Given the description of an element on the screen output the (x, y) to click on. 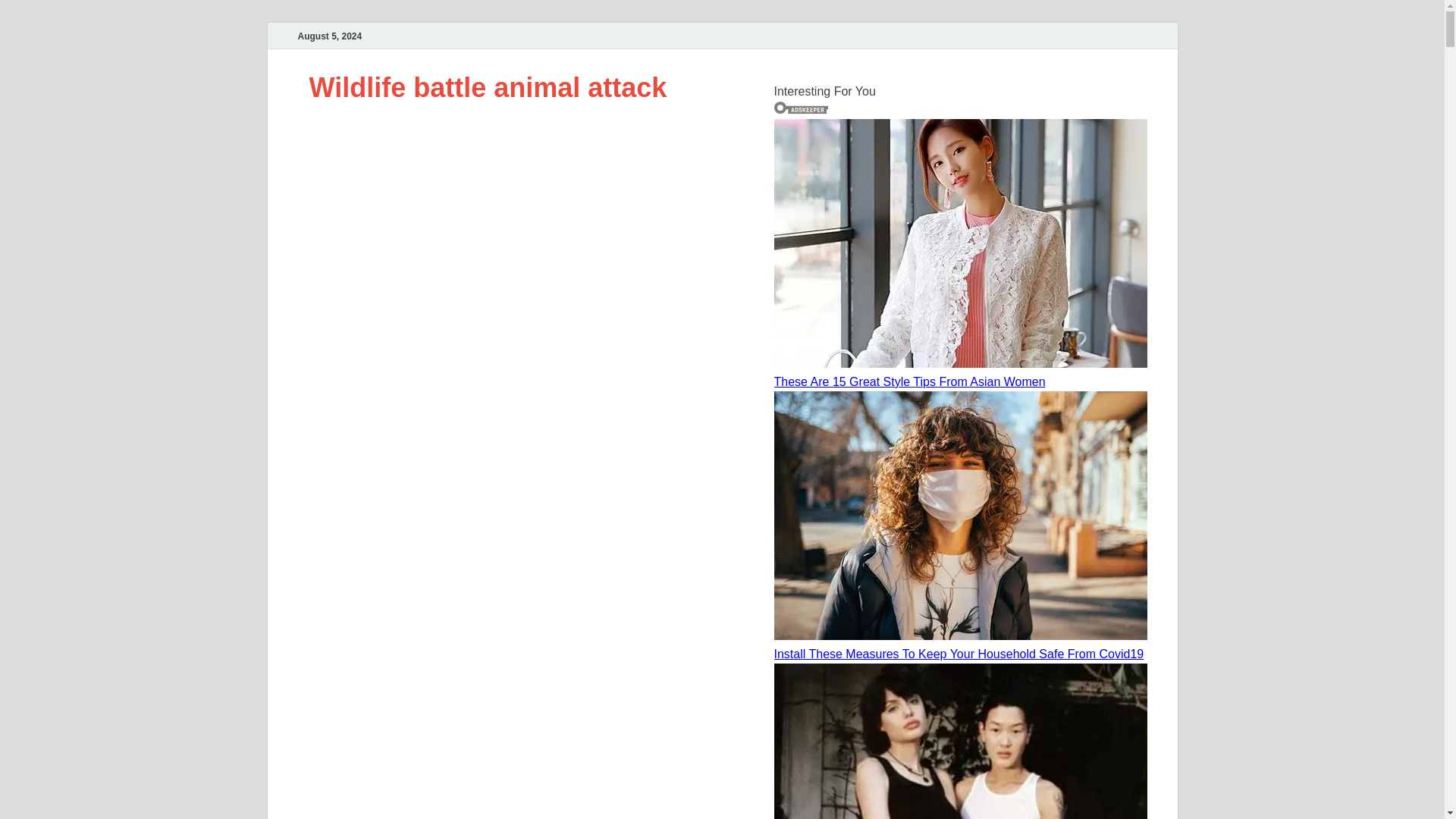
Wildlife battle animal attack (487, 87)
